Given the description of an element on the screen output the (x, y) to click on. 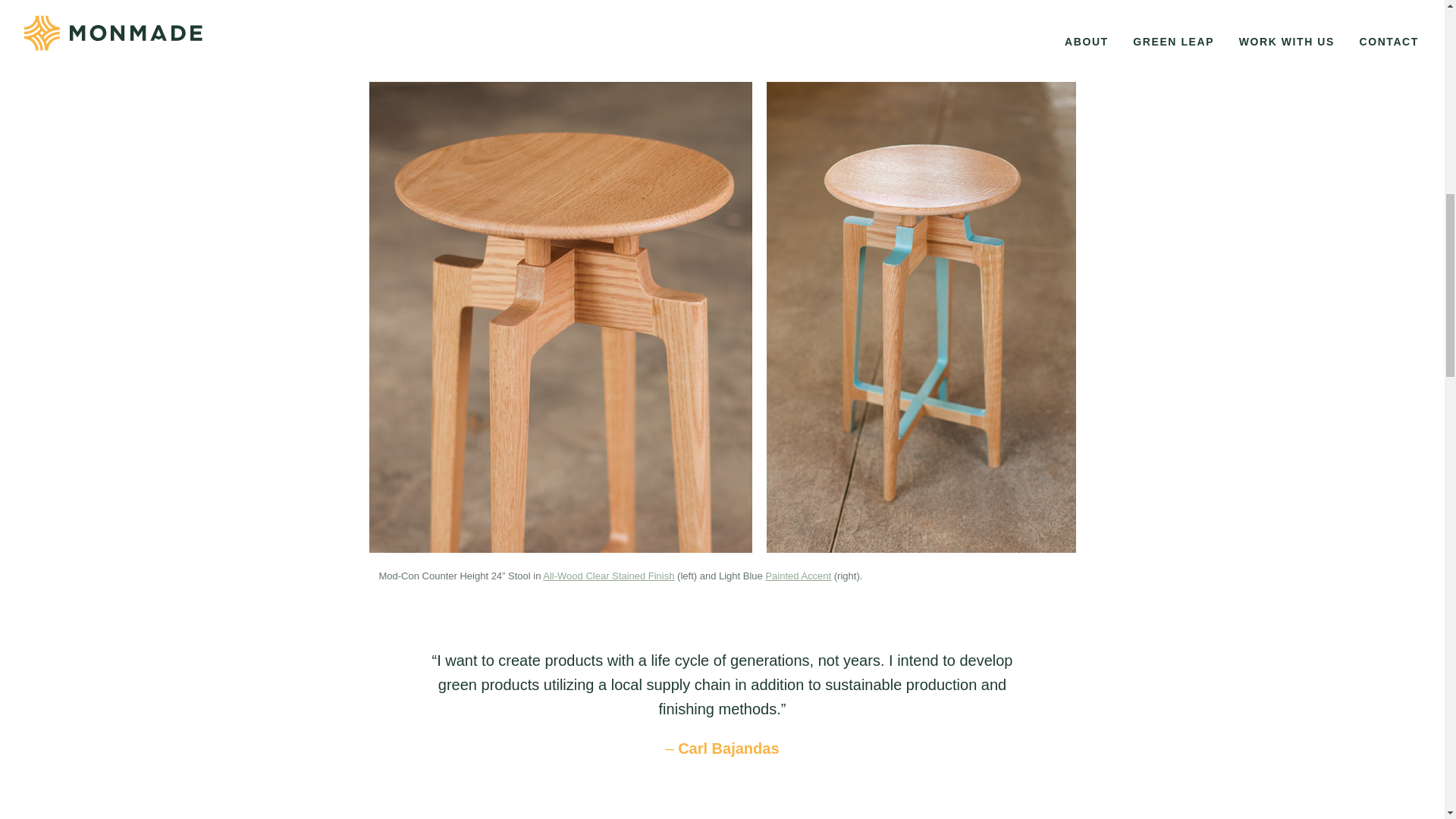
Painted Accent (798, 575)
All-Wood Clear Stained Finish (608, 575)
